Given the description of an element on the screen output the (x, y) to click on. 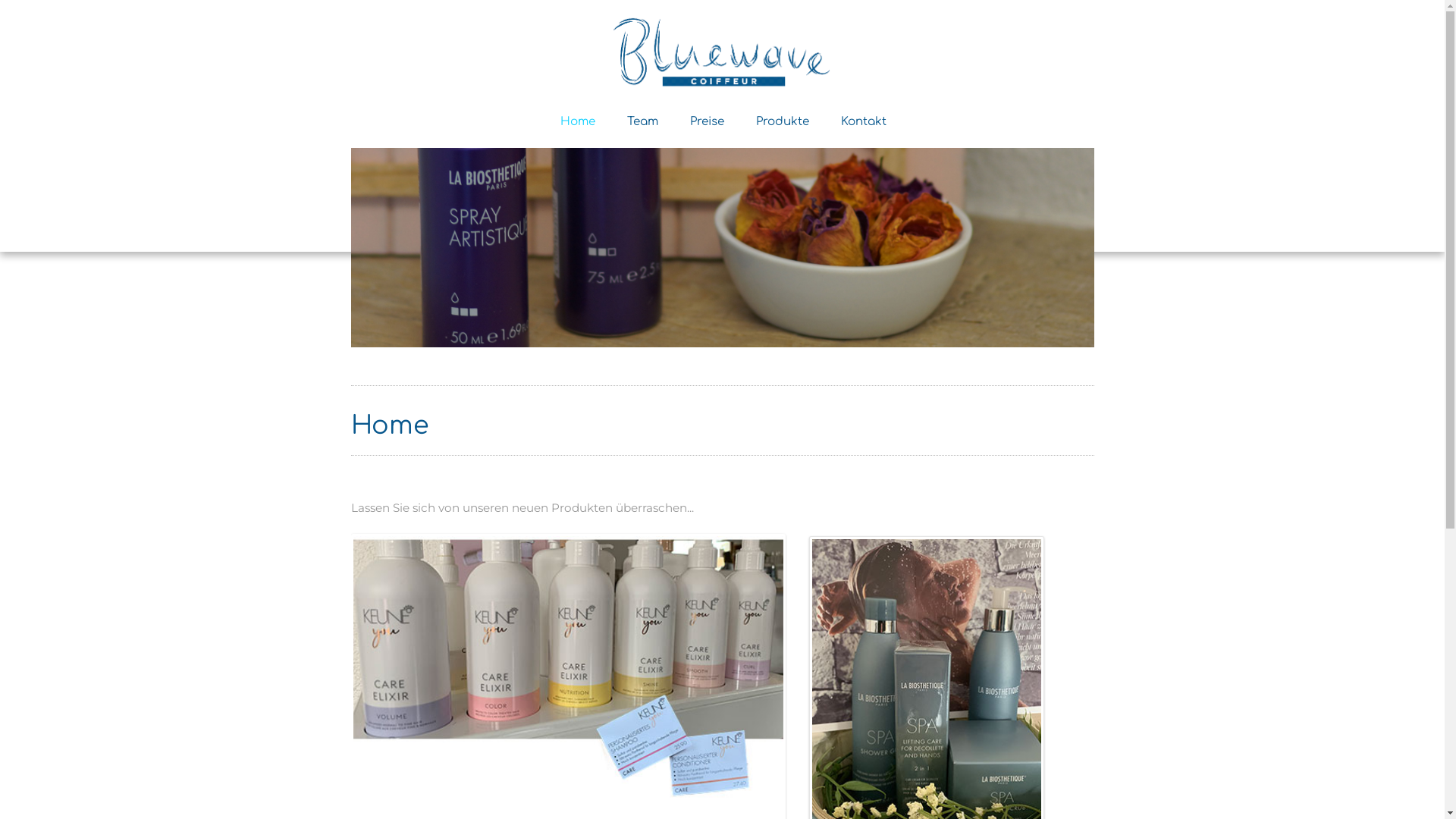
Home Element type: text (576, 122)
Team Element type: text (640, 122)
Produkte Element type: text (780, 122)
Kontakt Element type: text (861, 122)
Preise Element type: text (706, 122)
